Given the description of an element on the screen output the (x, y) to click on. 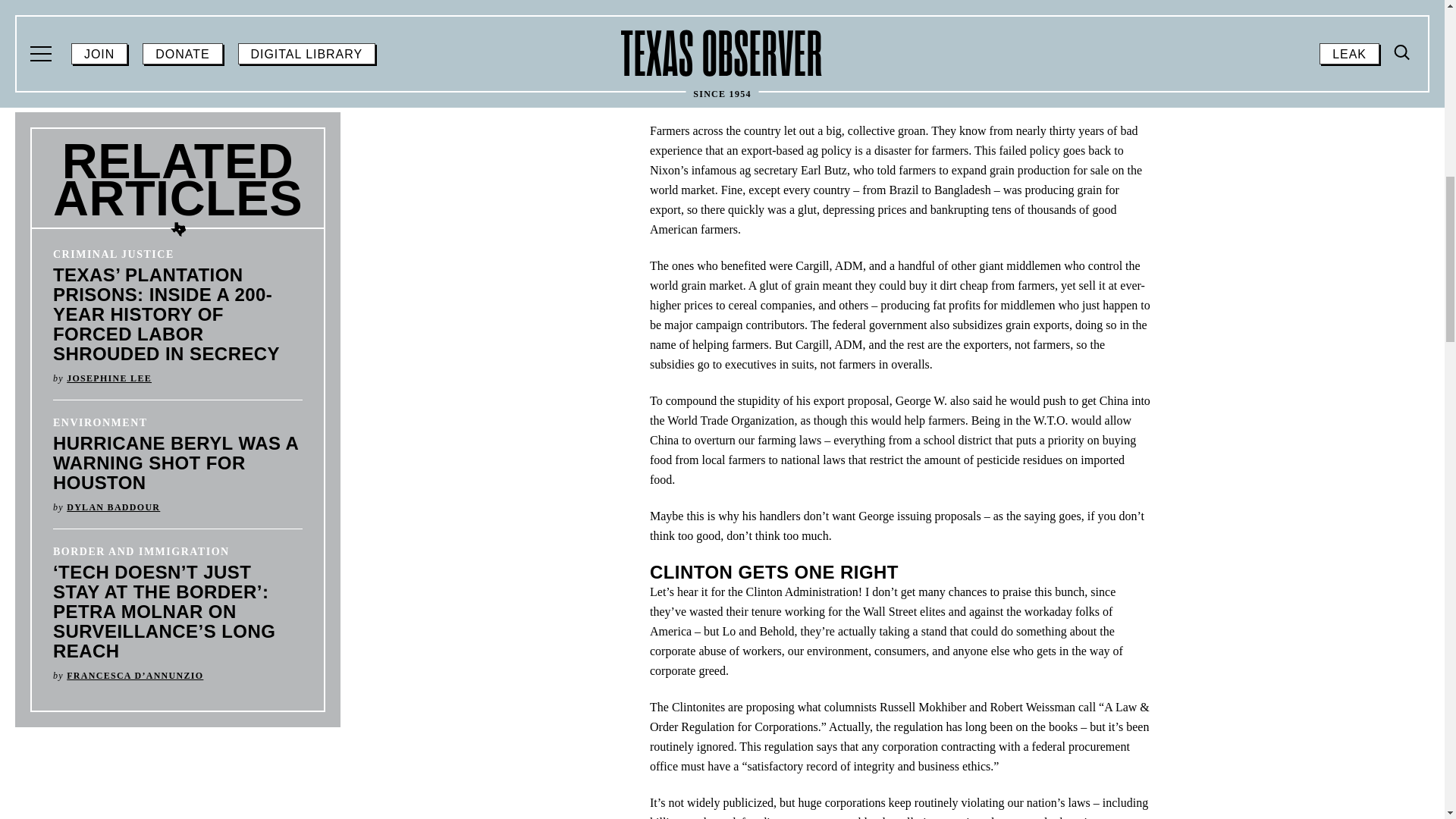
Post by Josephine Lee (108, 378)
Post by Dylan Baddour (113, 507)
